Given the description of an element on the screen output the (x, y) to click on. 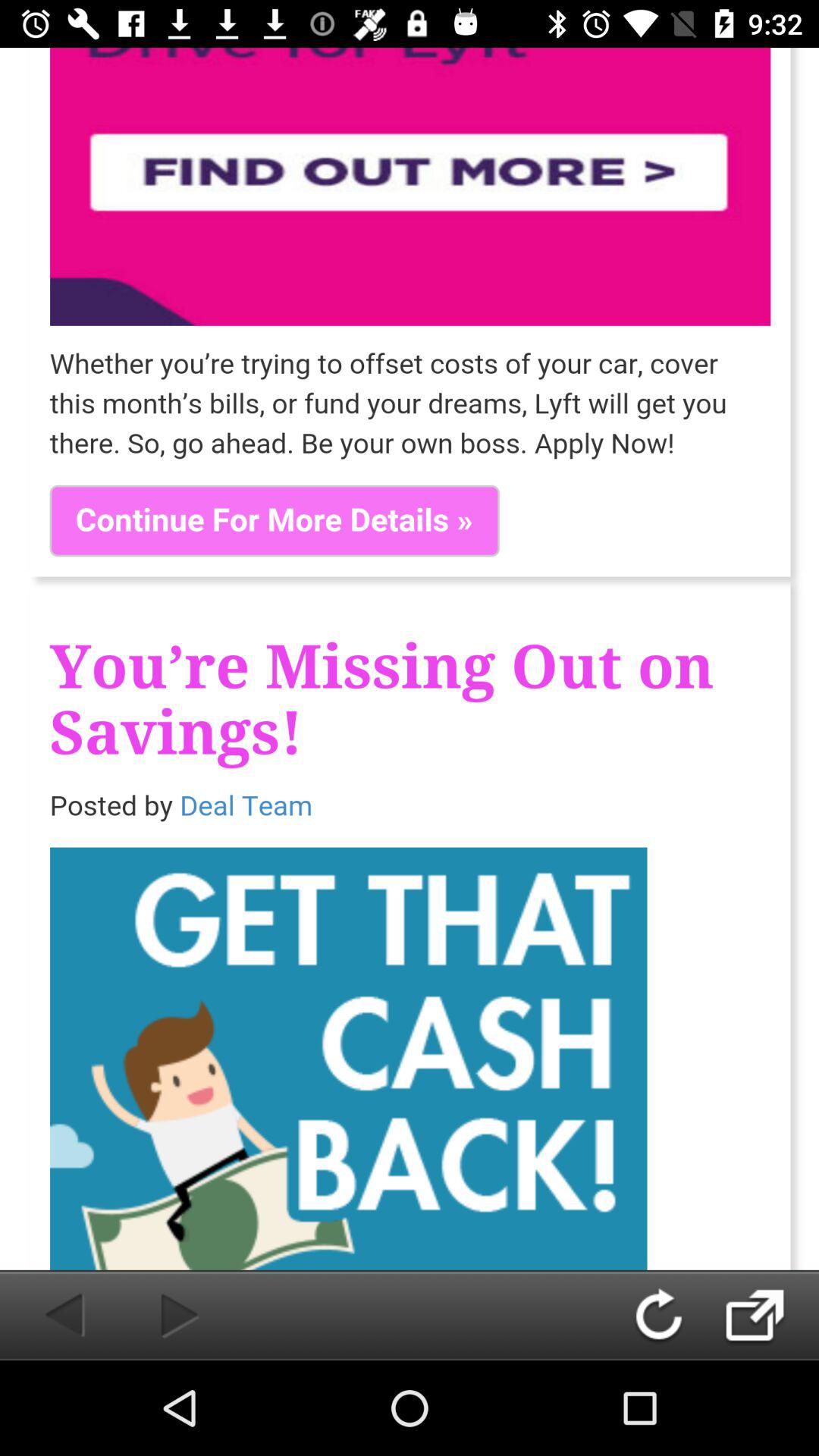
refresh (673, 1315)
